Given the description of an element on the screen output the (x, y) to click on. 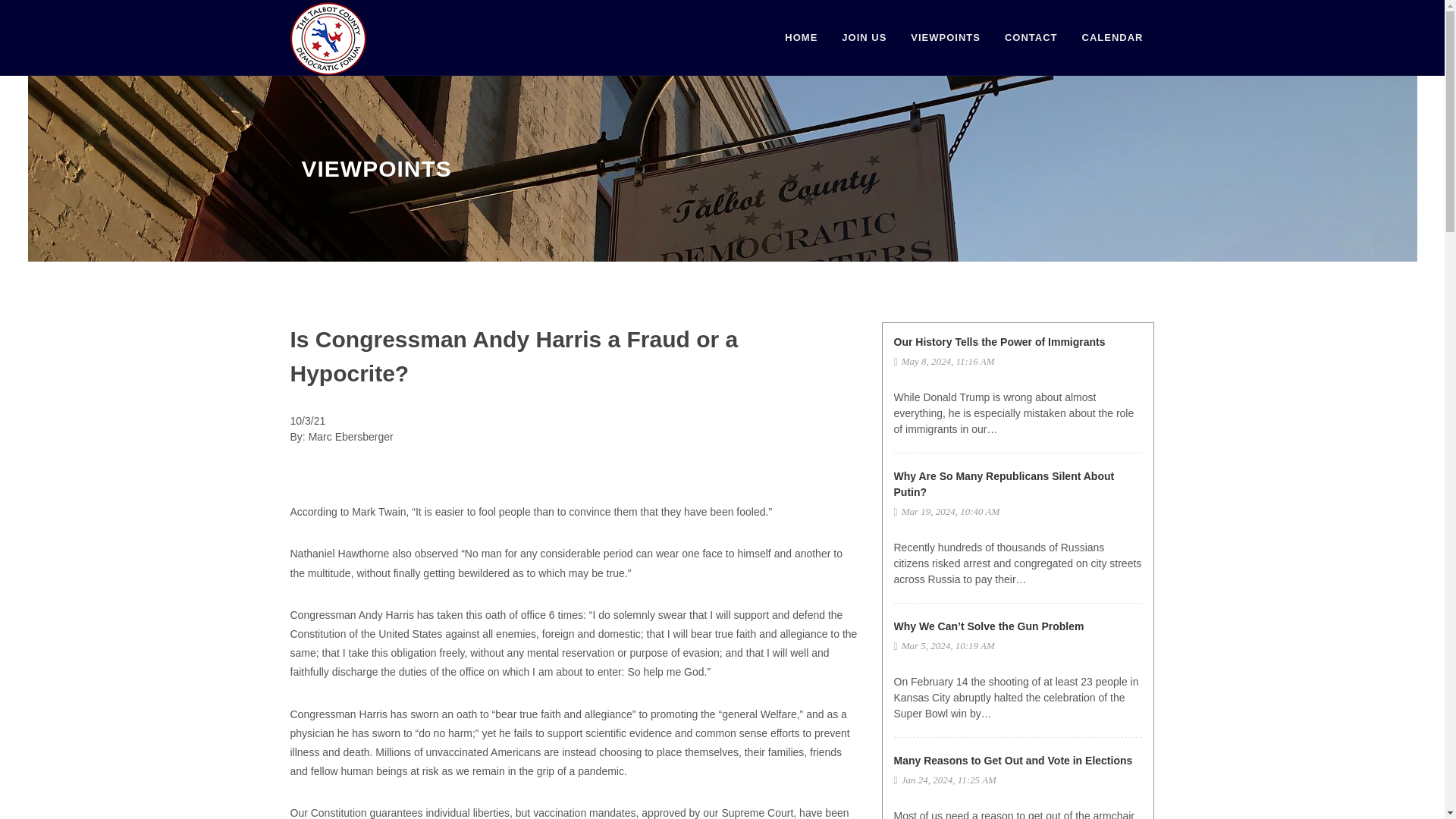
CALENDAR (1112, 38)
CONTACT (1030, 38)
Why Are So Many Republicans Silent About Putin? (1003, 483)
VIEWPOINTS (945, 38)
JOIN US (863, 38)
Our History Tells the Power of Immigrants (999, 341)
Many Reasons to Get Out and Vote in Elections (1012, 760)
